Given the description of an element on the screen output the (x, y) to click on. 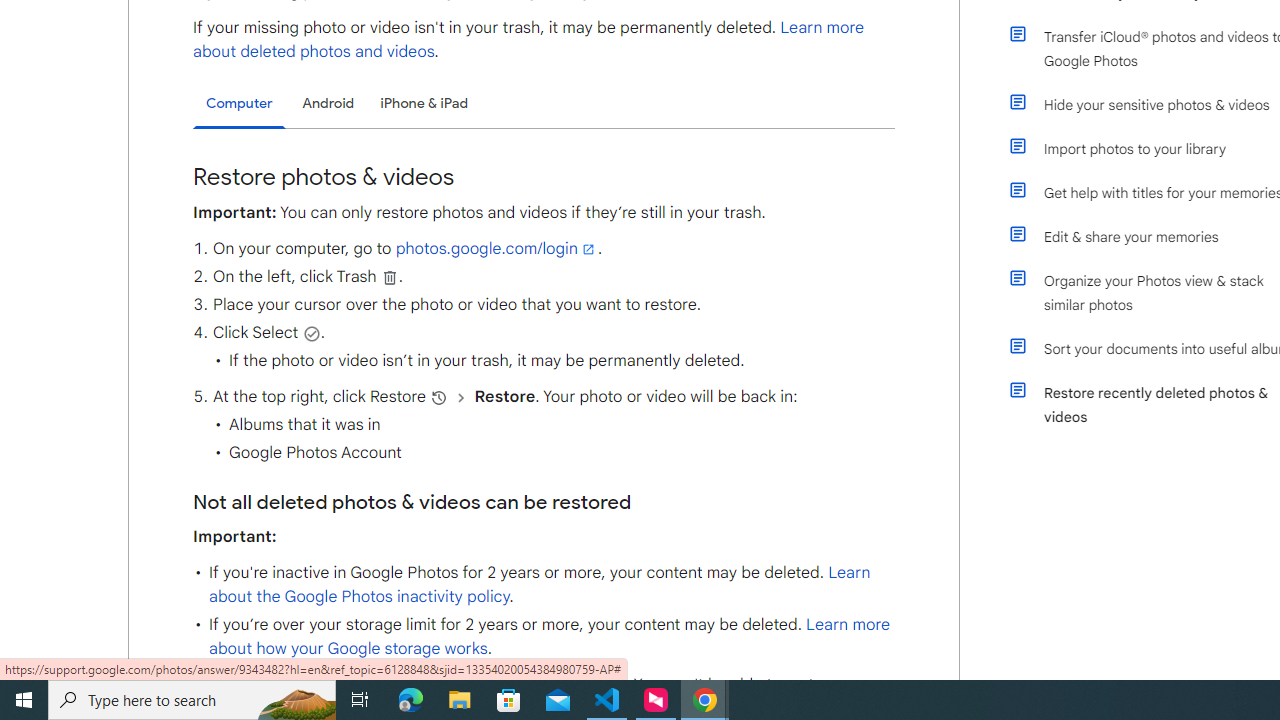
Android (328, 102)
Select (311, 333)
photos.google.com/login (496, 249)
Learn about the Google Photos inactivity policy (539, 584)
Computer (239, 103)
iPhone & iPad (424, 102)
Learn more about how your Google storage works (548, 636)
and then (461, 397)
Learn more about deleted photos and videos (529, 39)
Delete (389, 277)
